Given the description of an element on the screen output the (x, y) to click on. 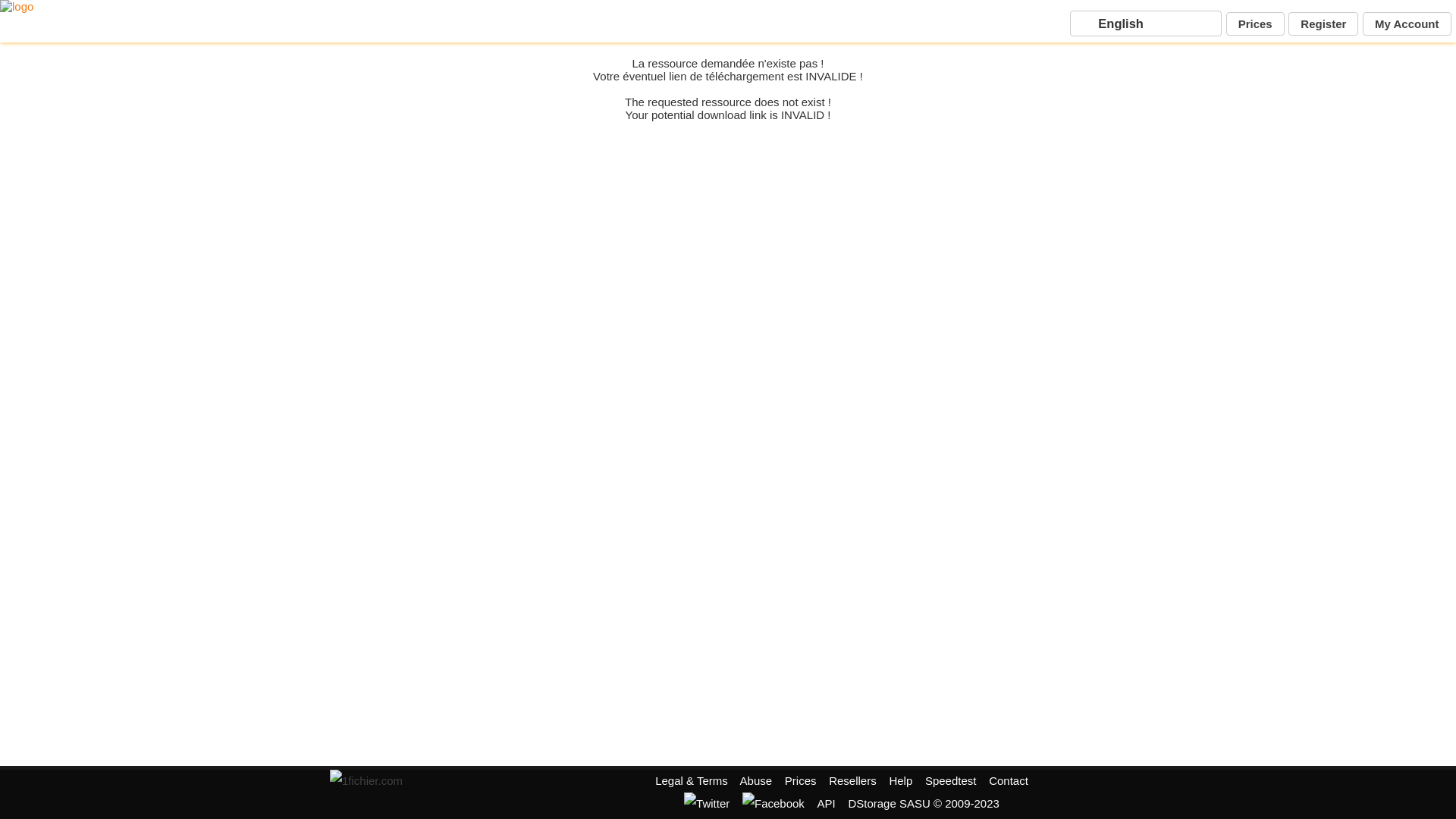
Register Element type: text (1323, 23)
Contact Element type: text (1008, 780)
Prices Element type: text (1255, 23)
Speedtest Element type: text (950, 780)
Resellers Element type: text (852, 780)
API Element type: text (826, 803)
Legal & Terms Element type: text (691, 780)
Help Element type: text (900, 780)
Prices Element type: text (800, 780)
My Account Element type: text (1406, 23)
Abuse Element type: text (756, 780)
